Given the description of an element on the screen output the (x, y) to click on. 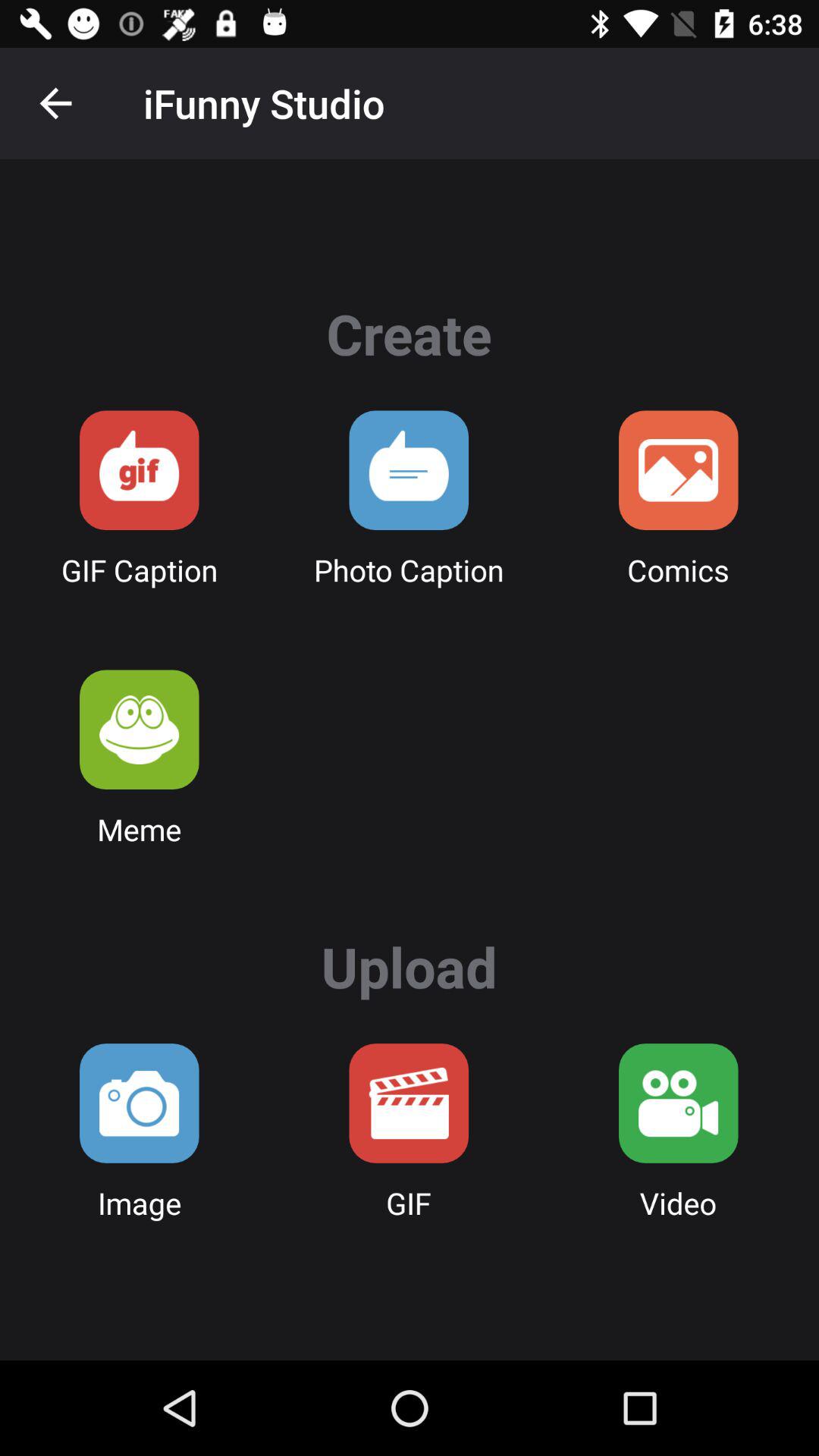
send a gif (139, 470)
